Given the description of an element on the screen output the (x, y) to click on. 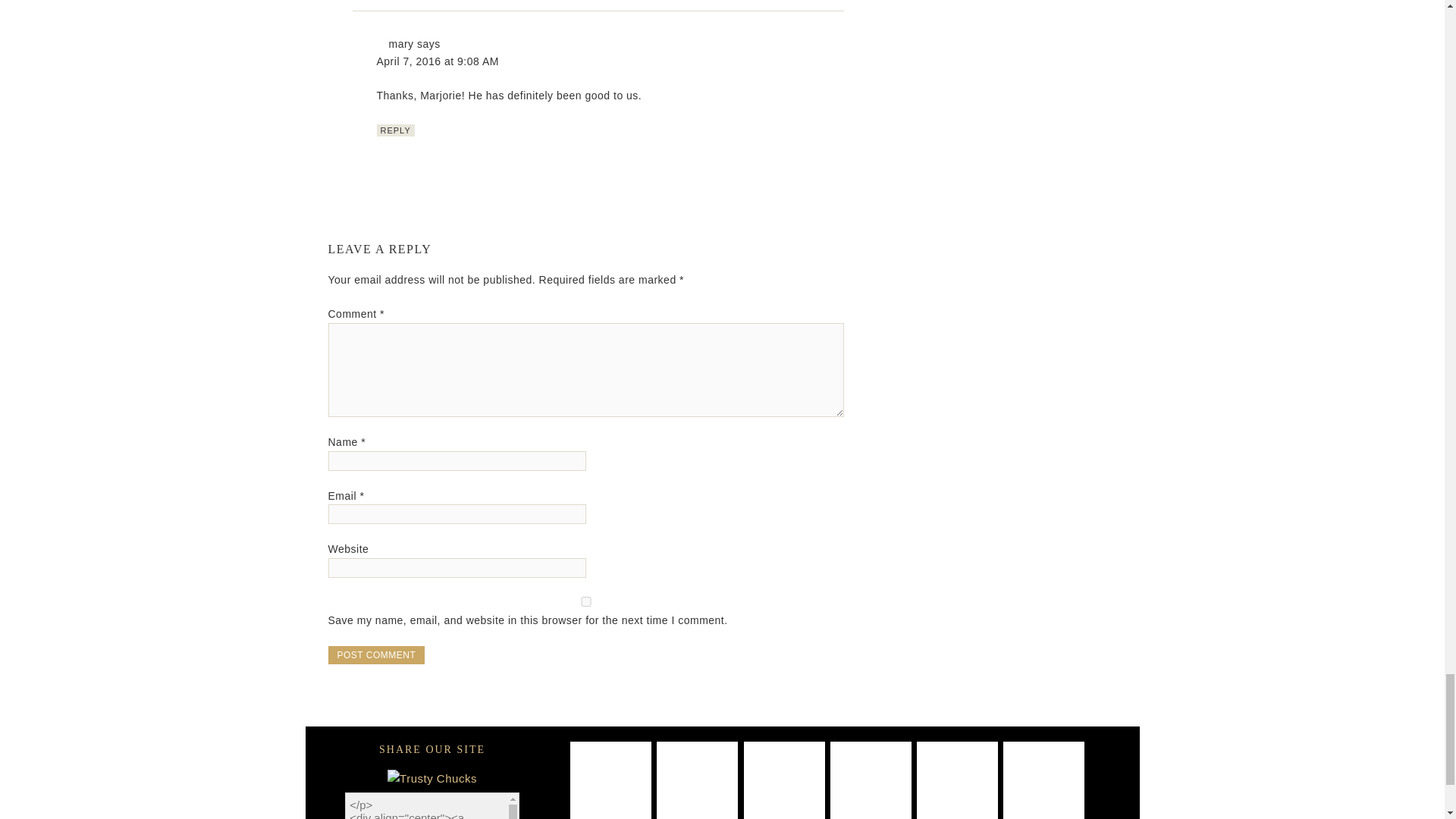
humble, quiet, and meek (1043, 781)
Trusty Chucks (432, 778)
Post Comment (376, 655)
Writing about the dead (697, 781)
paint colors, for now (610, 781)
REPLY (394, 130)
April 7, 2016 at 9:08 AM (436, 61)
2024 Book Club List (870, 781)
yes (585, 601)
Post Comment (376, 655)
